Given the description of an element on the screen output the (x, y) to click on. 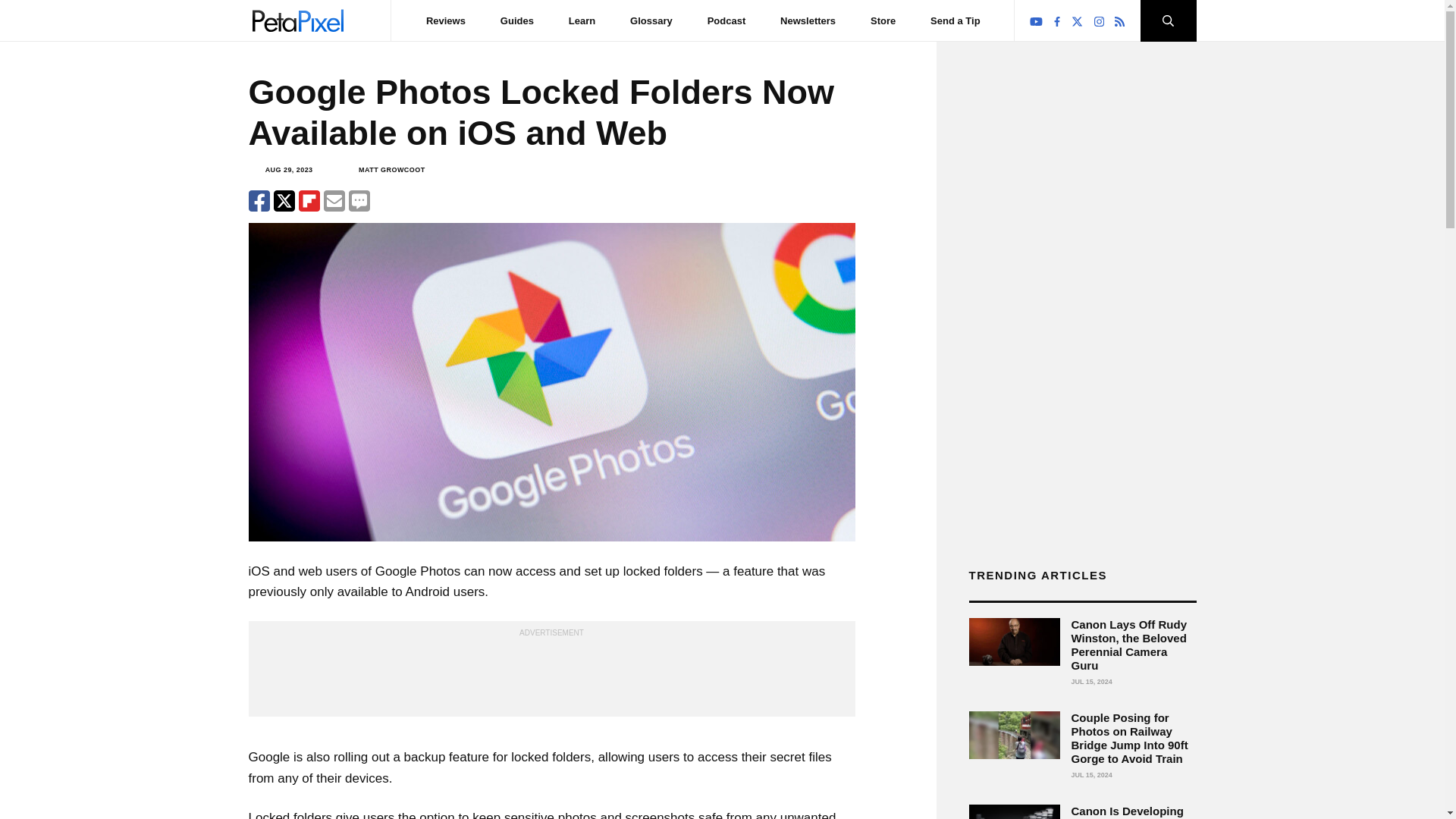
Share on facebook (258, 200)
Follow PetaPixel on YouTube (1036, 20)
Follow PetaPixel on X (1077, 21)
Store (882, 20)
RSS Feed (1119, 20)
PetaPixel (296, 20)
RSS Feed (1119, 21)
Glossary (651, 20)
Follow PetaPixel on Facebook (1056, 20)
Follow PetaPixel on Instagram (1099, 20)
PetaPixel (296, 20)
Share on Flipboard (309, 200)
Guides (517, 20)
Send a Tip (954, 20)
Share on X (283, 200)
